Given the description of an element on the screen output the (x, y) to click on. 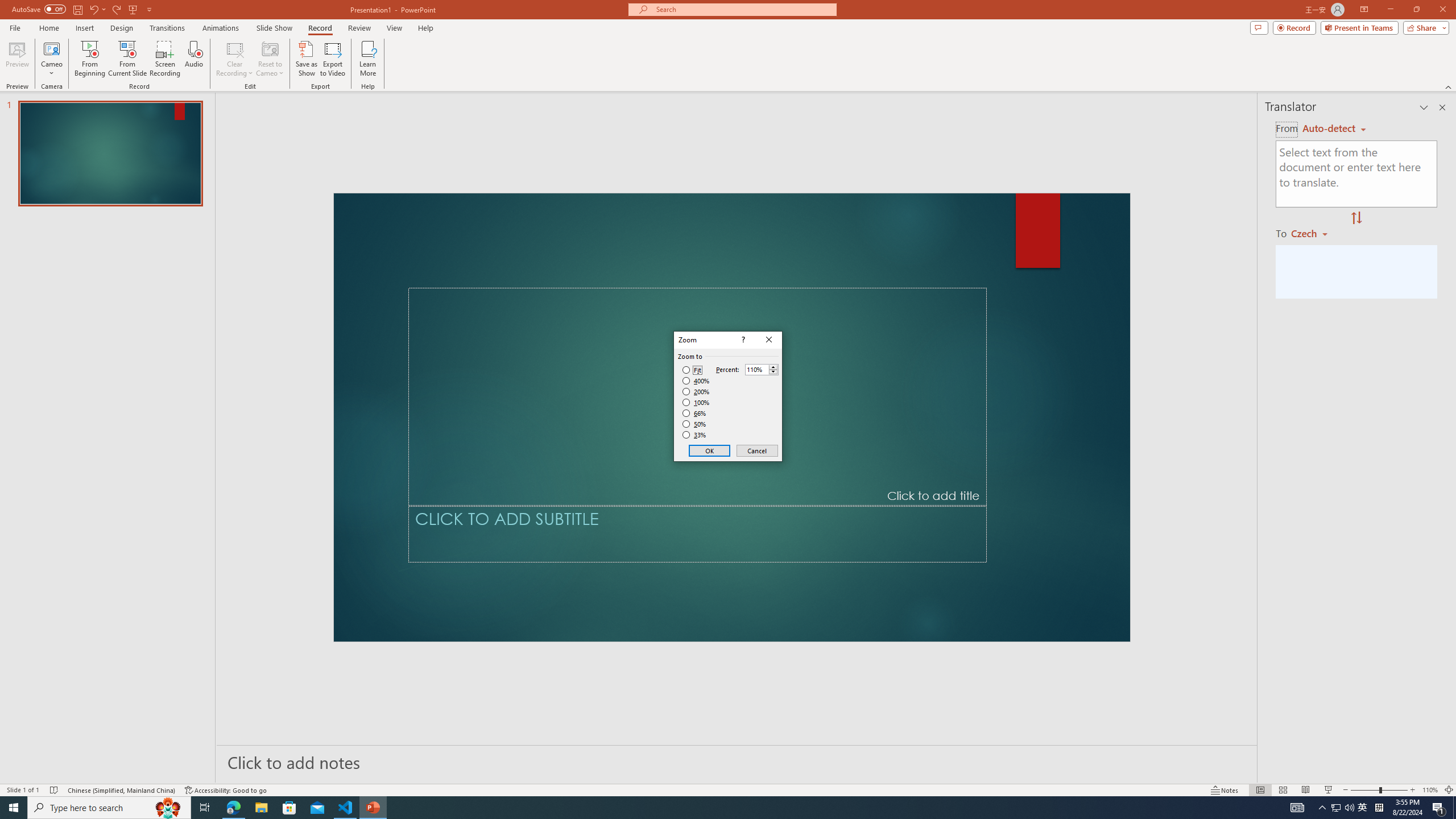
Export to Video (332, 58)
From Beginning... (89, 58)
Percent (756, 369)
Context help (742, 339)
